Given the description of an element on the screen output the (x, y) to click on. 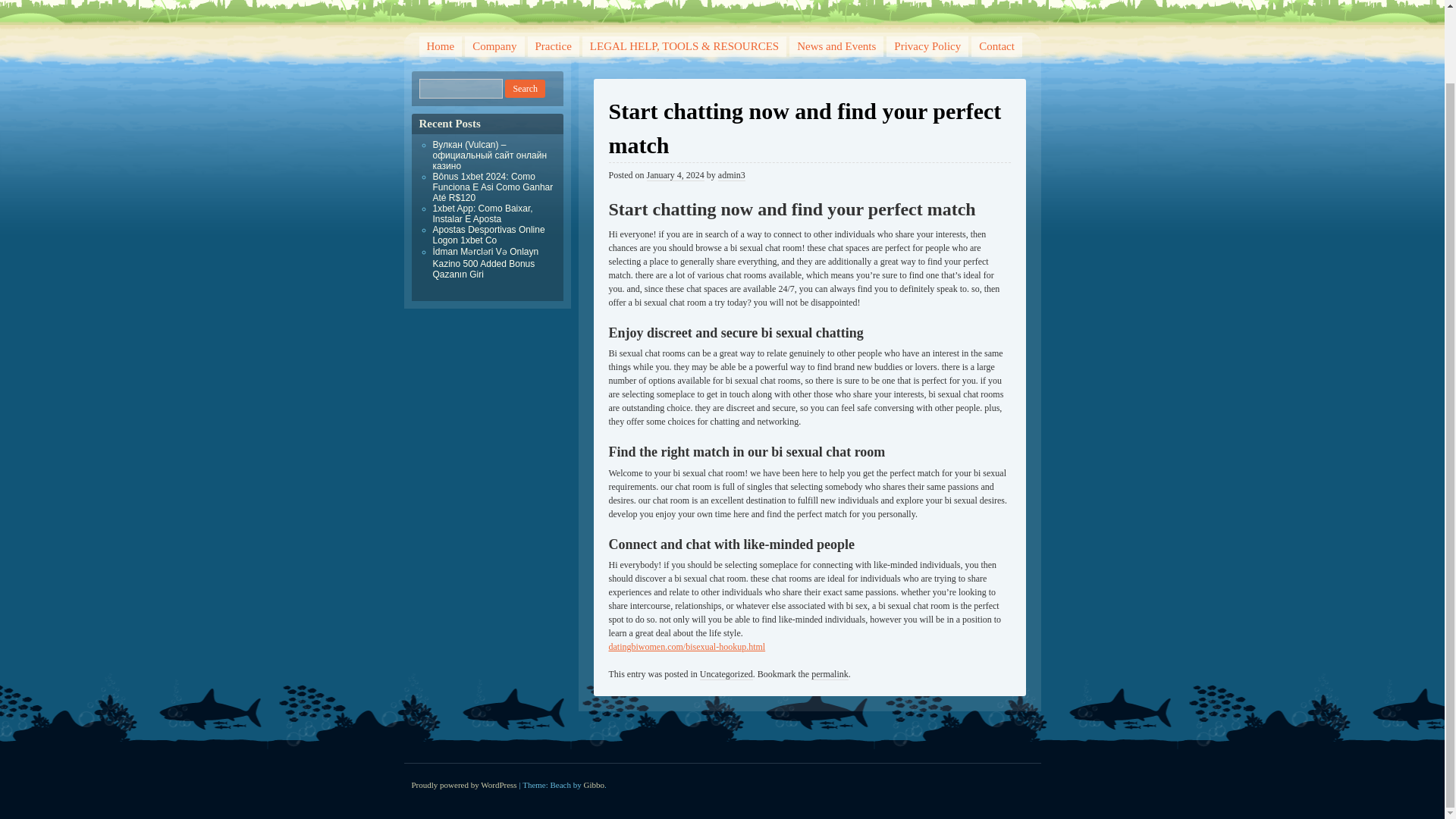
Uncategorized (726, 674)
A Semantic Personal Publishing Platform (463, 784)
Home (440, 46)
Permalink to Start chatting now and find your perfect match (829, 674)
January 4, 2024 (675, 174)
Proudly powered by WordPress (463, 784)
Contact (996, 46)
Search (524, 88)
Privacy Policy (927, 46)
admin3 (731, 174)
Apostas Desportivas Online Logon 1xbet Co (488, 233)
News and Events (836, 46)
Gibbo (594, 784)
Company (494, 46)
View all posts by admin3 (731, 174)
